Given the description of an element on the screen output the (x, y) to click on. 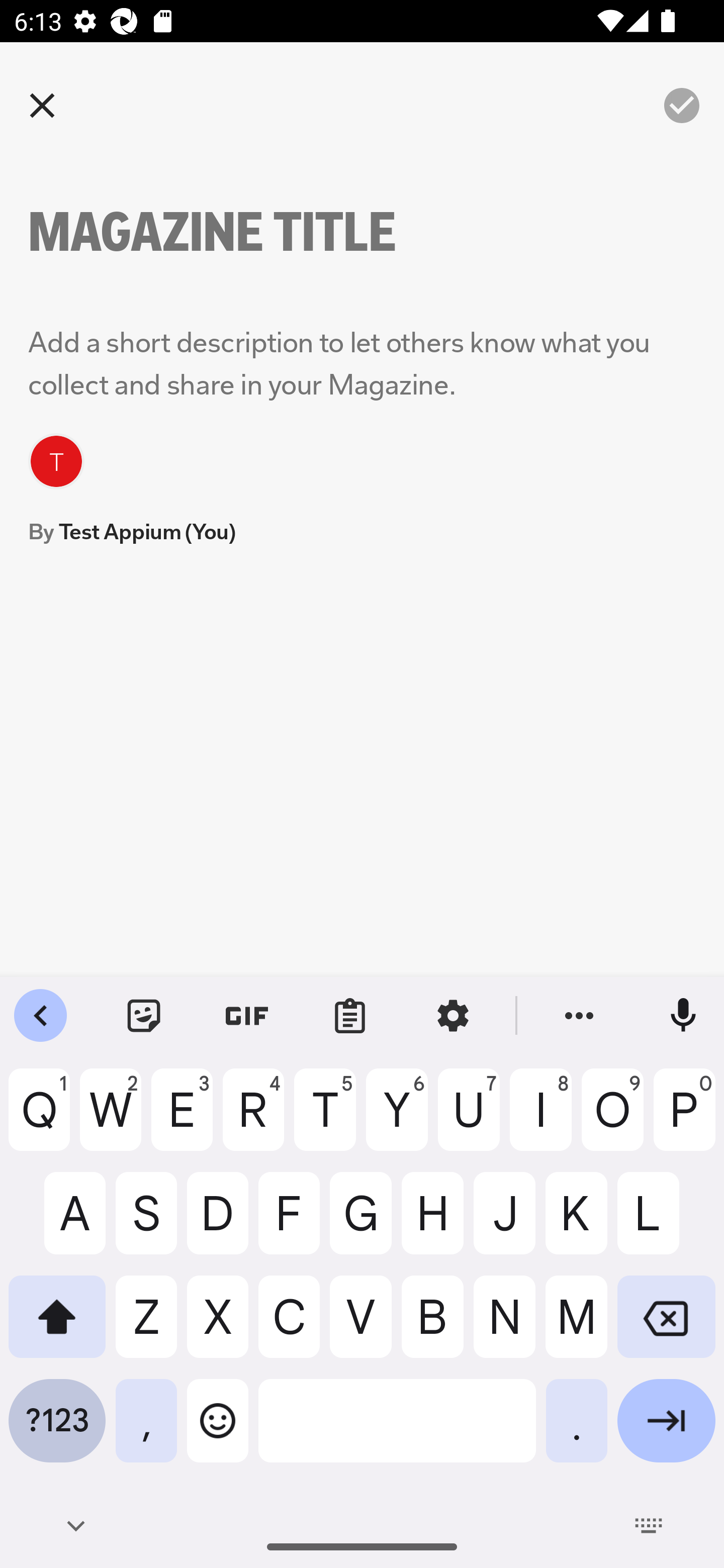
MAGAZINE TITLE (246, 231)
